Given the description of an element on the screen output the (x, y) to click on. 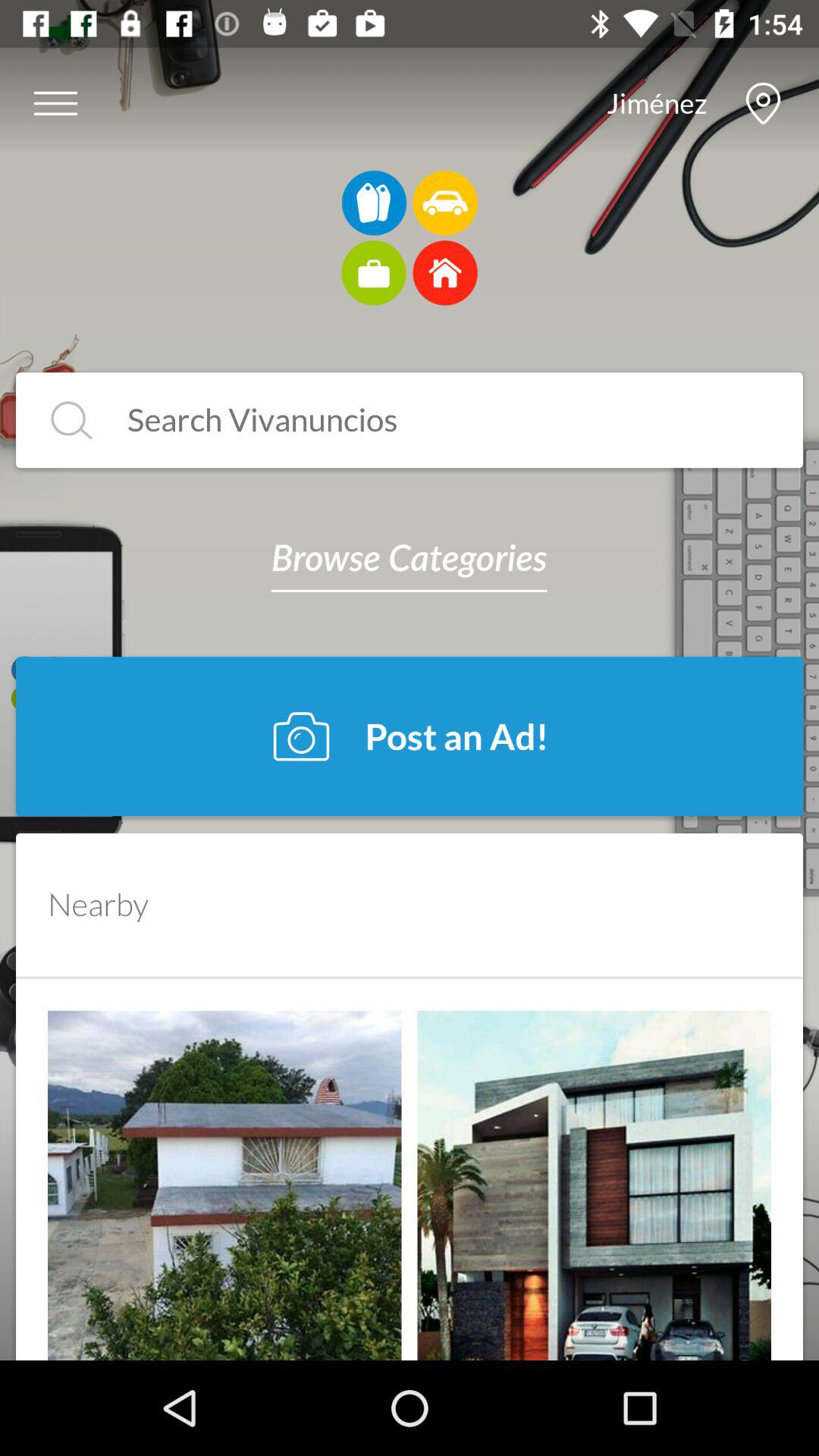
search input box (433, 420)
